Given the description of an element on the screen output the (x, y) to click on. 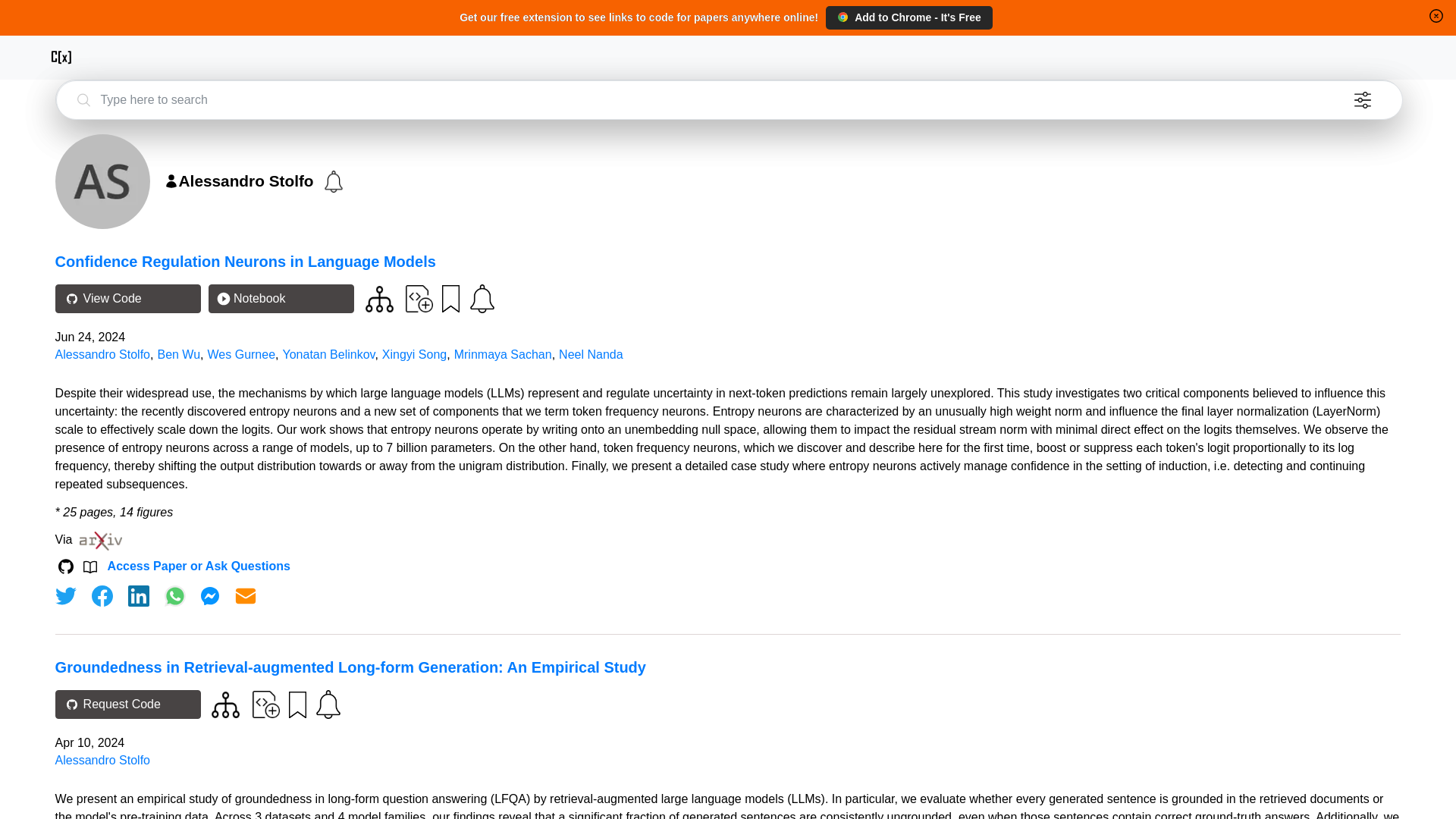
View Code (127, 298)
Contribute your code for this paper to the community (265, 704)
Share via Email (245, 595)
Alessandro Stolfo (102, 354)
Notebook (280, 298)
Wes Gurnee (242, 354)
Xingyi Song (413, 354)
Yonatan Belinkov (328, 354)
Access Paper or Ask Questions (198, 566)
Ben Wu (178, 354)
Mrinmaya Sachan (502, 354)
Request Code (127, 704)
View code for similar papers (379, 298)
Alessandro Stolfo (102, 759)
